Given the description of an element on the screen output the (x, y) to click on. 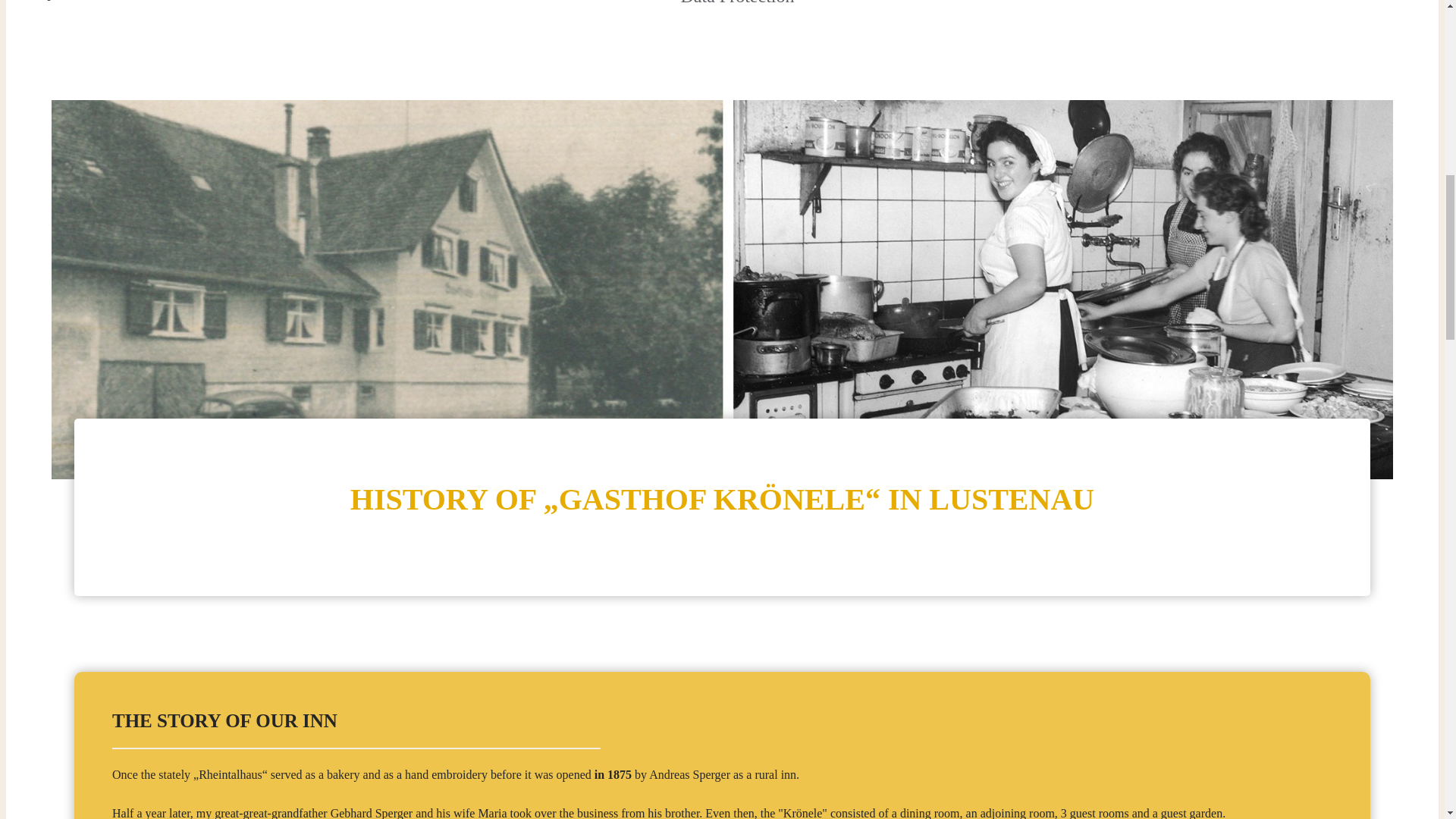
Data Protection (737, 10)
